Given the description of an element on the screen output the (x, y) to click on. 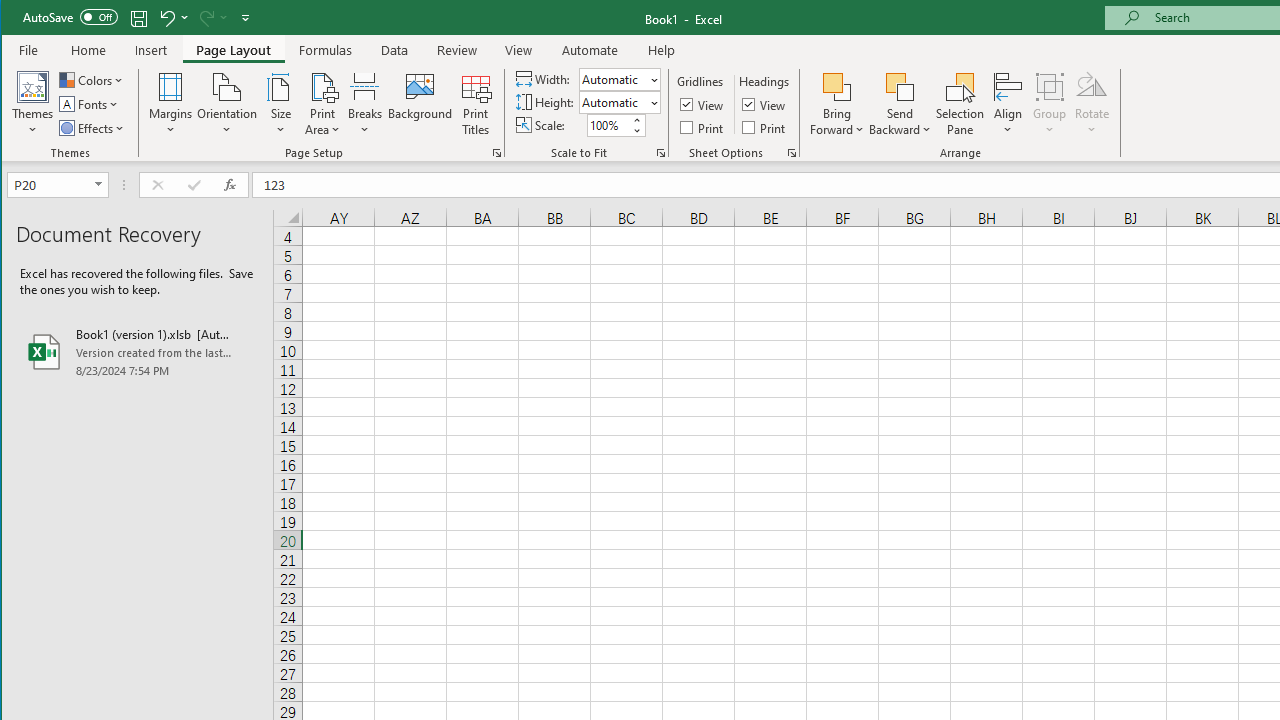
Align (1007, 104)
Selection Pane... (960, 104)
Rotate (1092, 104)
Group (1050, 104)
Customize Quick Access Toolbar (245, 17)
Less (636, 130)
Automate (589, 50)
Quick Access Toolbar (137, 17)
File Tab (29, 49)
Save (139, 17)
System (19, 18)
Name Box (57, 184)
Height (619, 101)
Effects (93, 127)
Undo (172, 17)
